Given the description of an element on the screen output the (x, y) to click on. 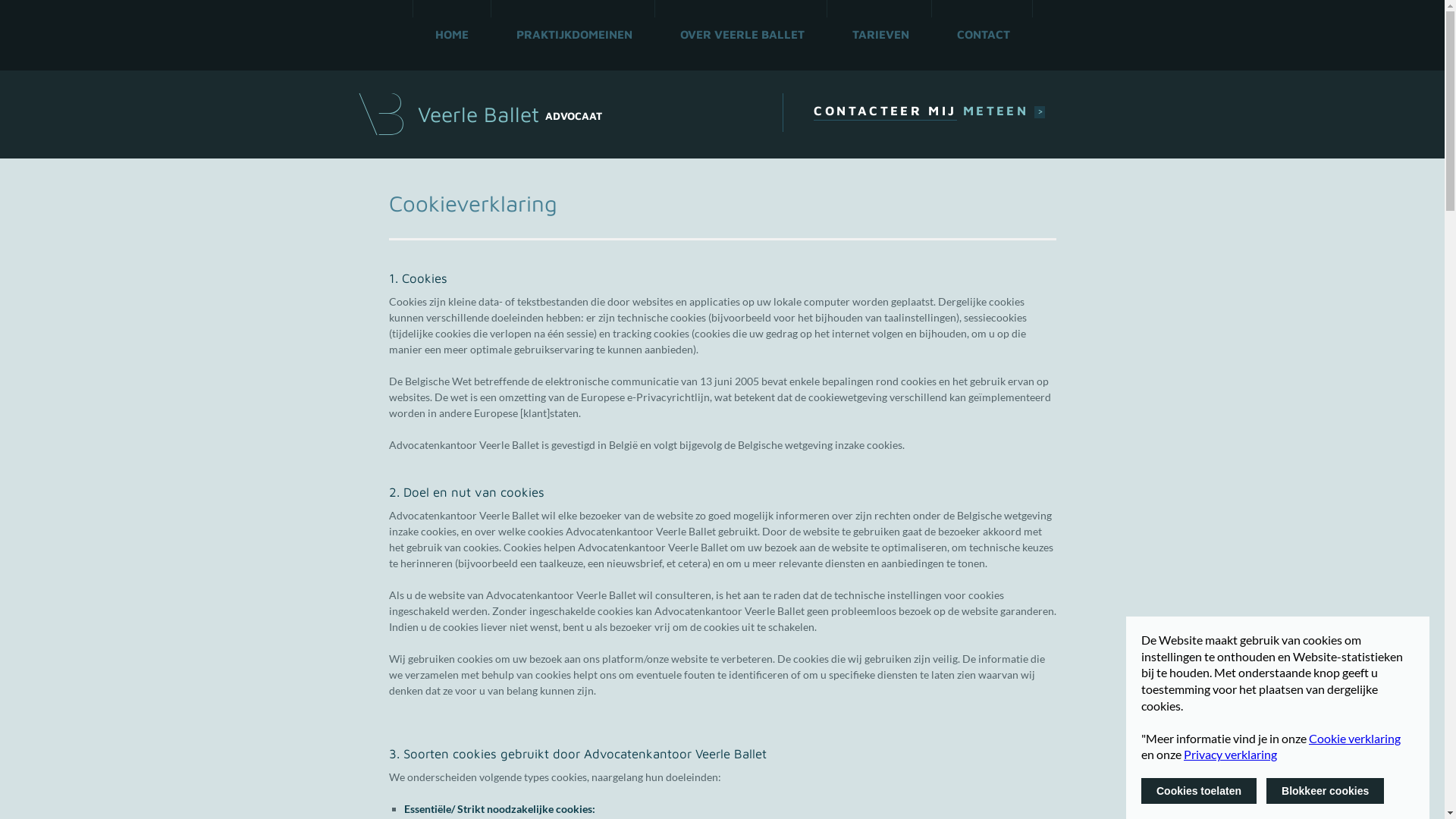
Blokkeer cookies Element type: text (1324, 790)
Privacy verklaring Element type: text (1230, 753)
CONTACTEER MIJ METEEN > Element type: text (933, 112)
HOME Element type: text (451, 43)
TARIEVEN Element type: text (880, 43)
Veerle Ballet ADVOCAAT Element type: text (479, 114)
CONTACT Element type: text (983, 43)
Cookie verklaring Element type: text (1354, 738)
OVER VEERLE BALLET Element type: text (741, 43)
PRAKTIJKDOMEINEN Element type: text (573, 43)
Cookies toelaten Element type: text (1198, 790)
